Given the description of an element on the screen output the (x, y) to click on. 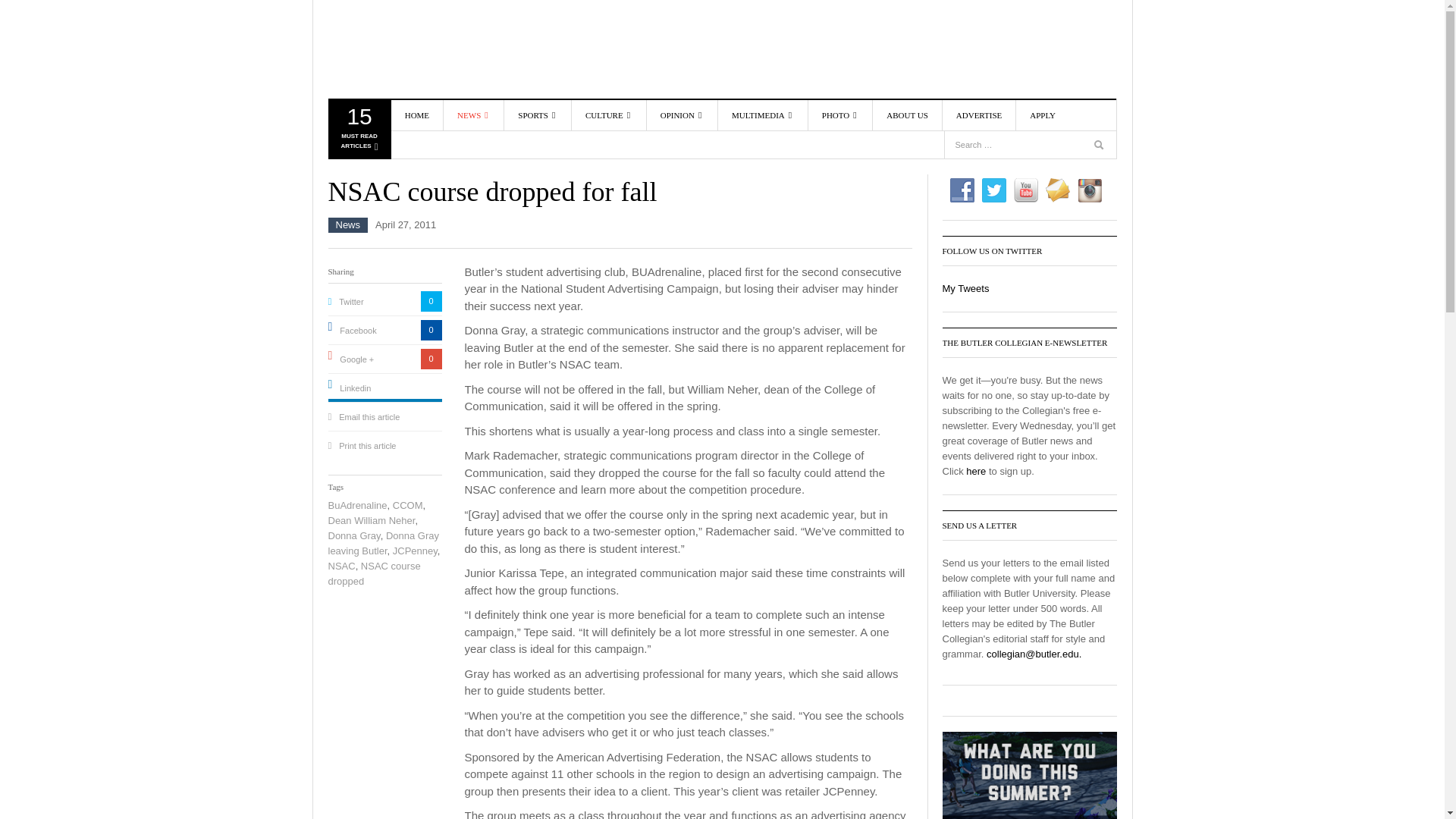
BREAKING NEWS (499, 171)
The Butler Collegian (414, 49)
Search (1091, 115)
NEWS (473, 114)
The Butler Collegian (414, 49)
Search (1100, 146)
HOME (416, 114)
NEWS (358, 132)
